Given the description of an element on the screen output the (x, y) to click on. 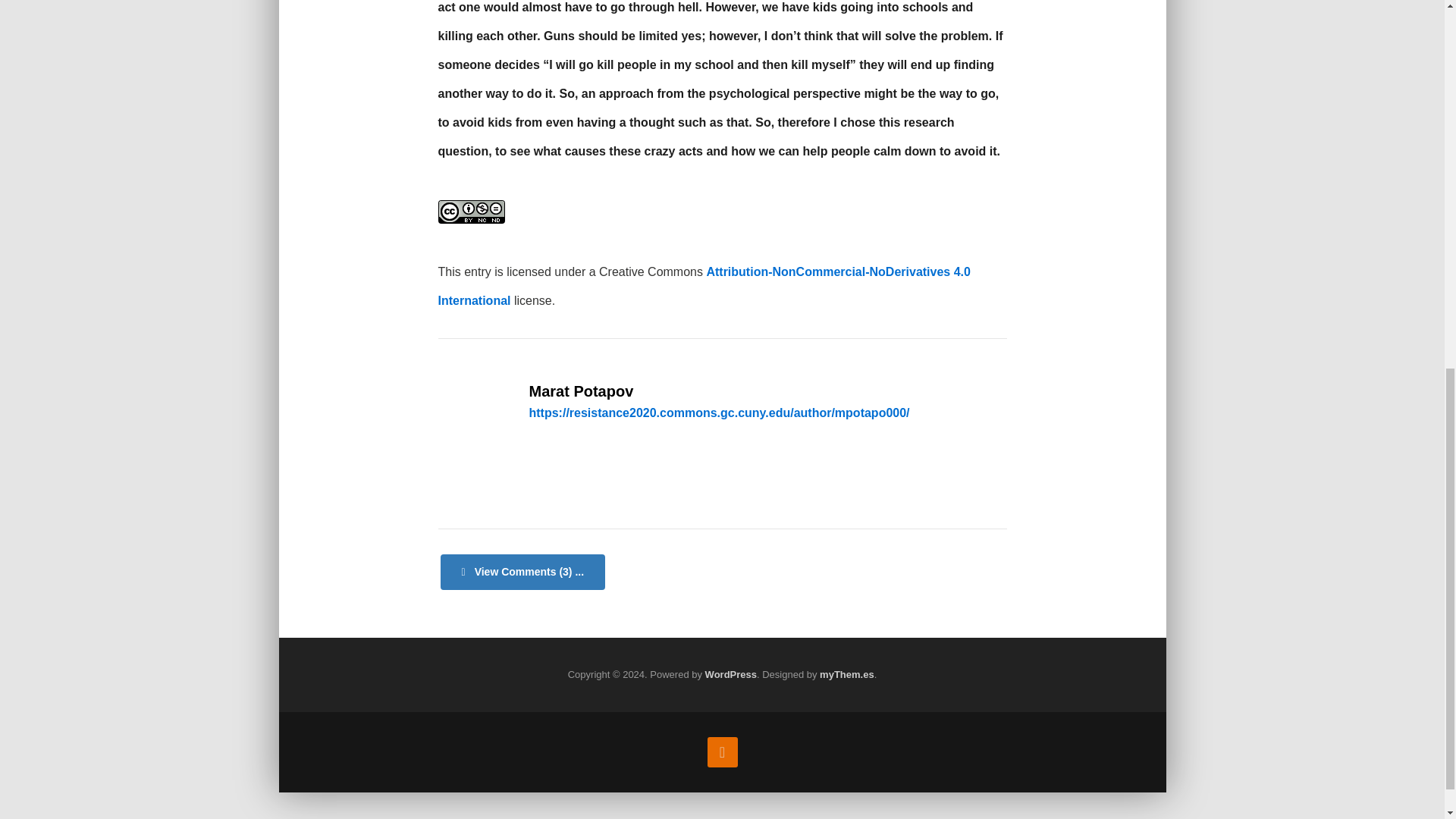
Attribution-NonCommercial-NoDerivatives 4.0 International (704, 287)
myThem.es (847, 675)
myThem.es (847, 675)
WordPress (730, 675)
